Given the description of an element on the screen output the (x, y) to click on. 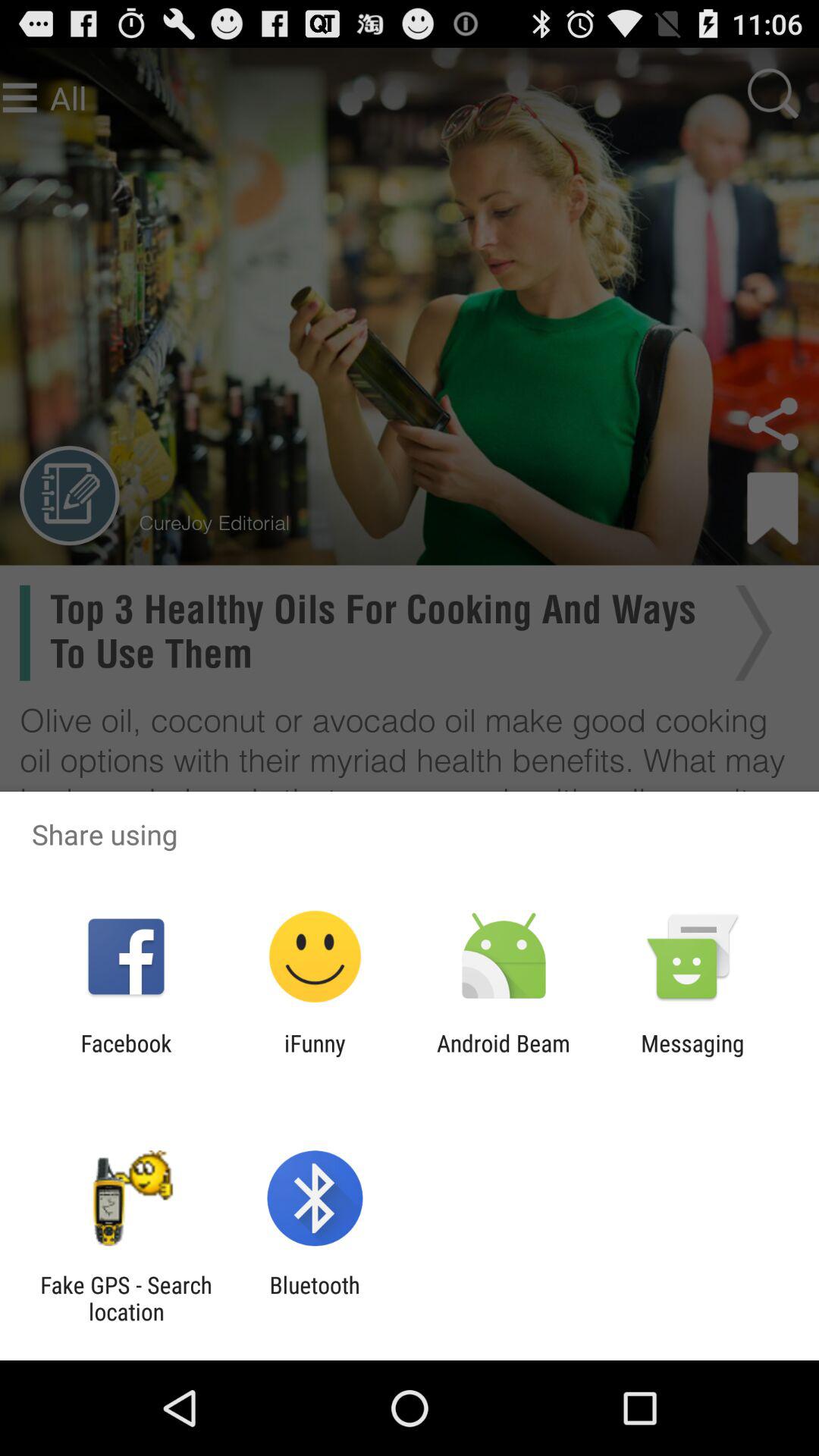
turn off item next to bluetooth app (125, 1298)
